Given the description of an element on the screen output the (x, y) to click on. 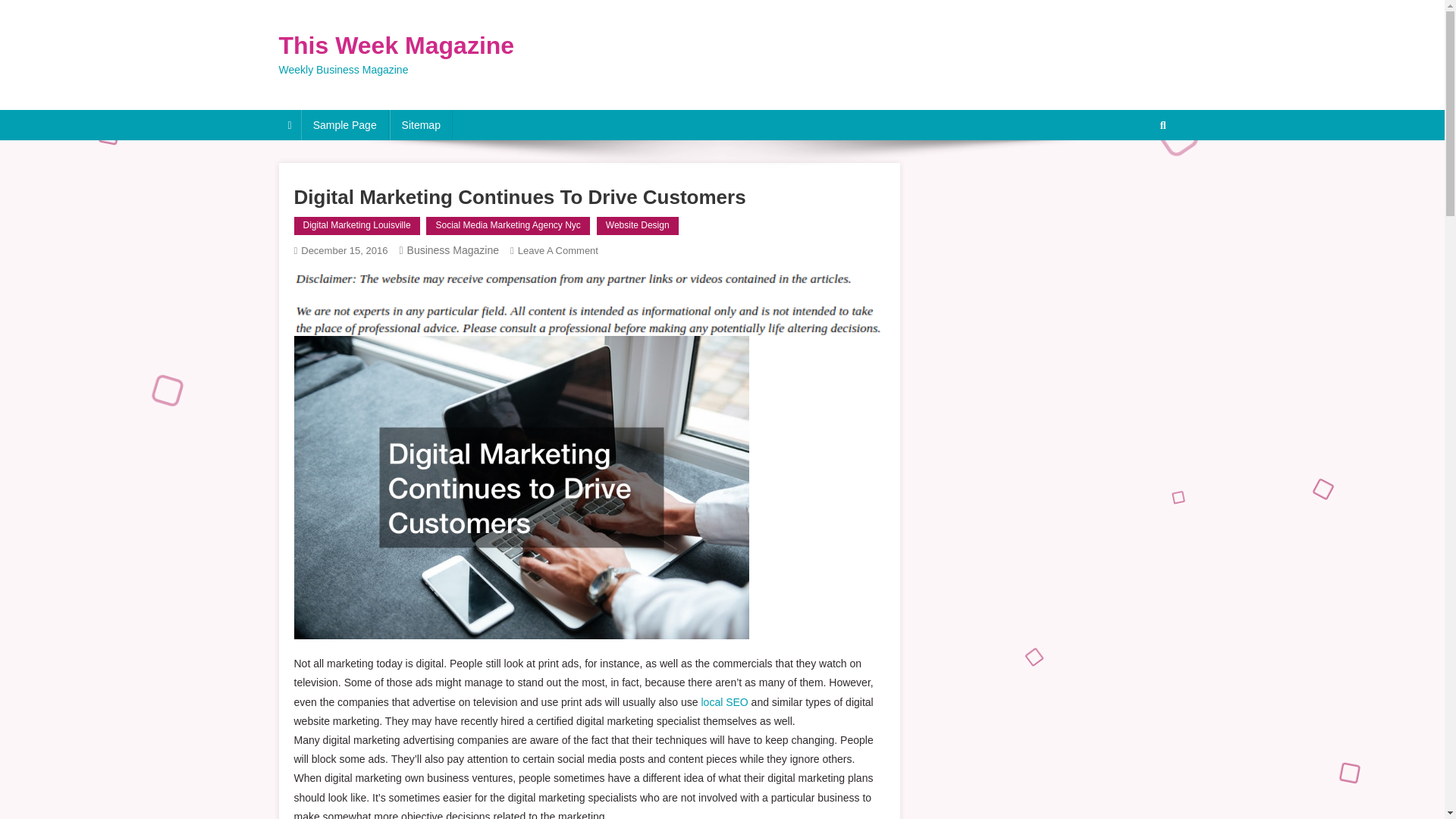
Search (1133, 175)
Social Media Marketing Agency Nyc (507, 226)
local SEO (724, 702)
Sitemap (421, 124)
Website Design (637, 226)
December 15, 2016 (344, 250)
This Week Magazine (397, 44)
Sample Page (344, 124)
Business Magazine (453, 250)
